Given the description of an element on the screen output the (x, y) to click on. 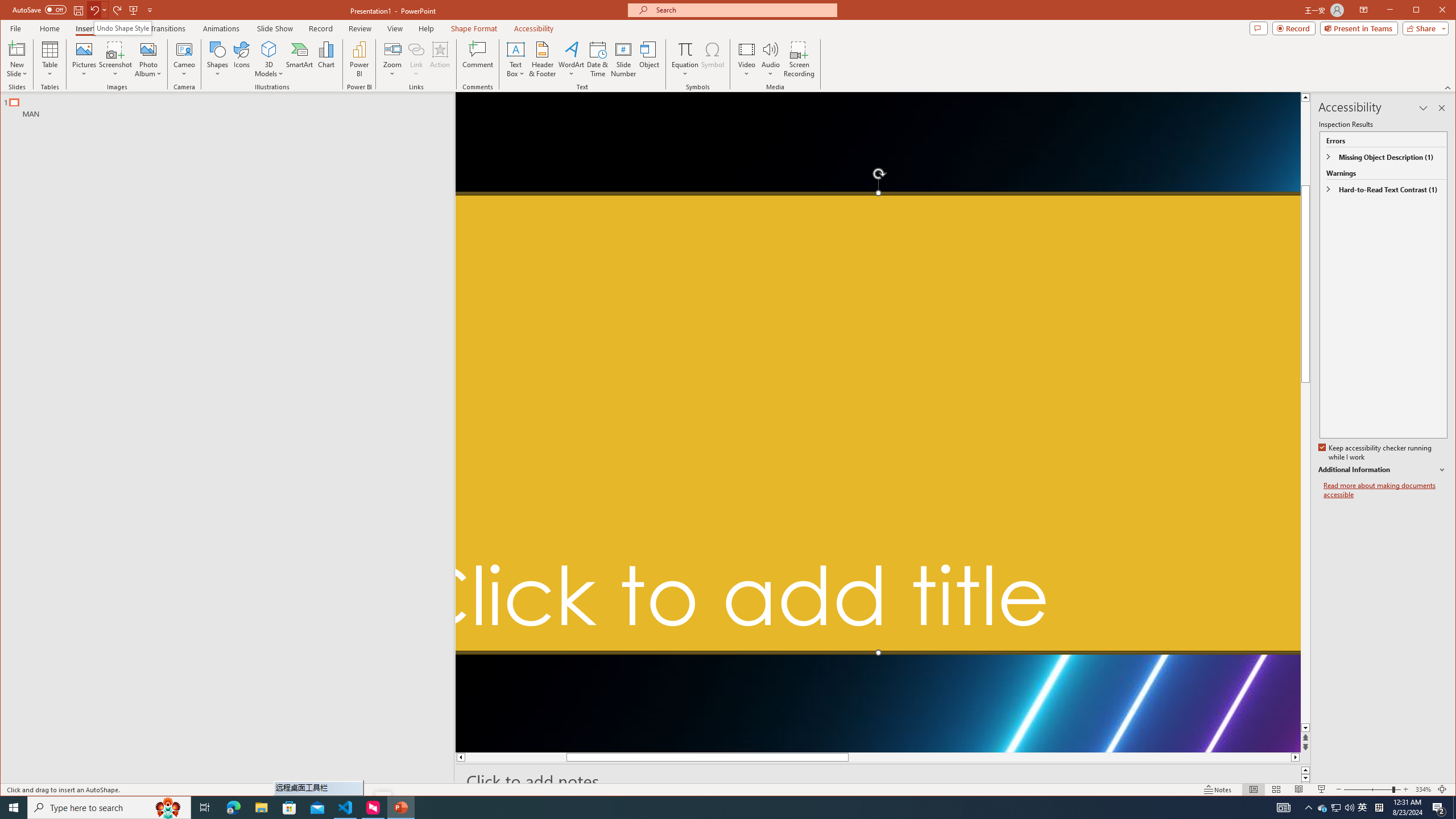
Page down (1305, 603)
Visual Studio Code - 1 running window (345, 807)
AutoSave (38, 9)
Task Pane Options (1422, 107)
Notification Chevron (1308, 807)
Accessibility (534, 28)
Power BI (359, 59)
Header & Footer... (542, 59)
Zoom In (1405, 789)
Chart... (325, 59)
Read more about making documents accessible (1385, 489)
Transitions (167, 28)
Notes  (1217, 789)
Maximize (1432, 11)
